Given the description of an element on the screen output the (x, y) to click on. 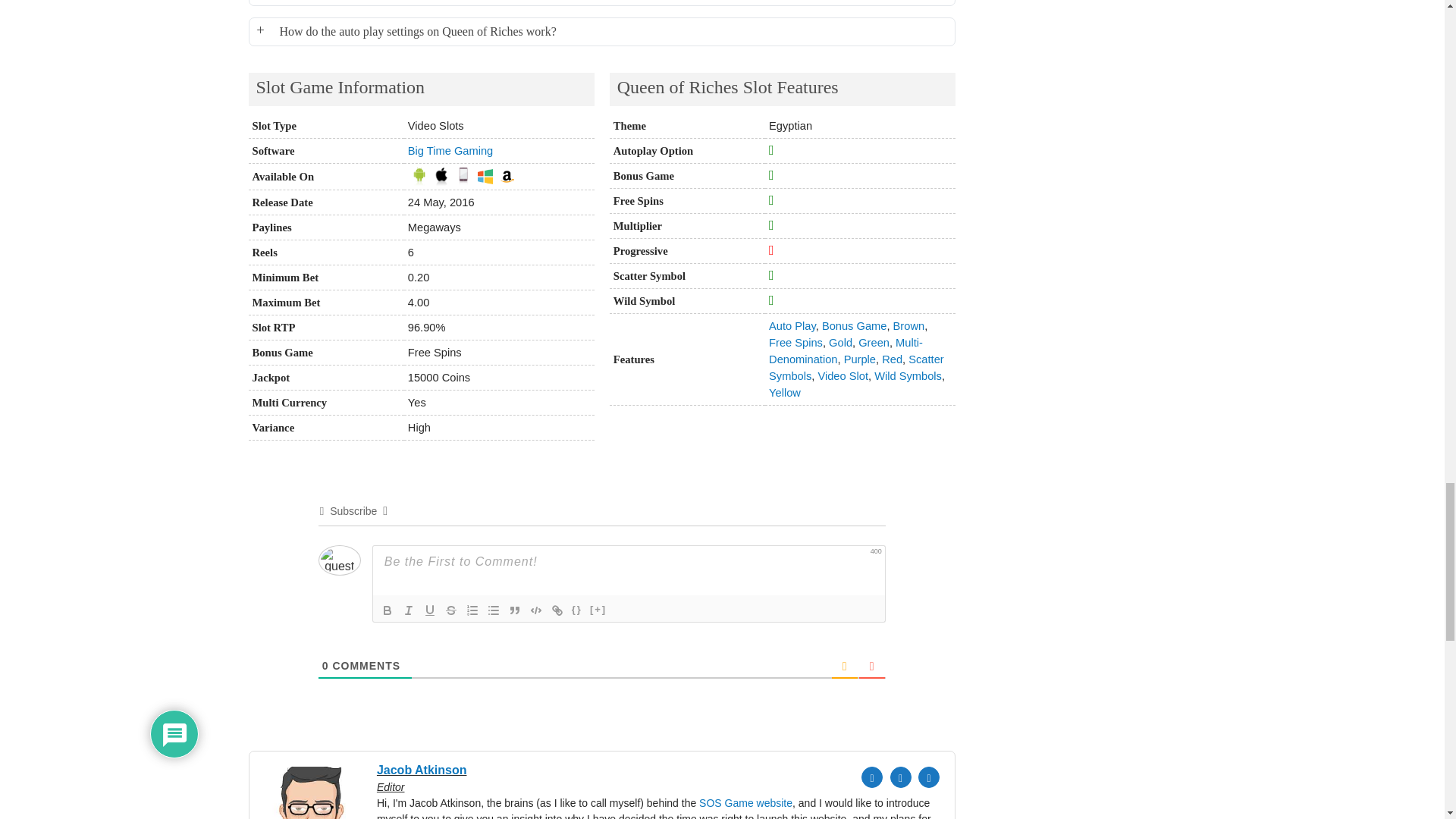
Underline (430, 609)
Tablets (462, 176)
Bold (387, 609)
Android (419, 176)
Windows (485, 176)
Kindle (507, 176)
Italic (408, 609)
iPhone (440, 176)
